Given the description of an element on the screen output the (x, y) to click on. 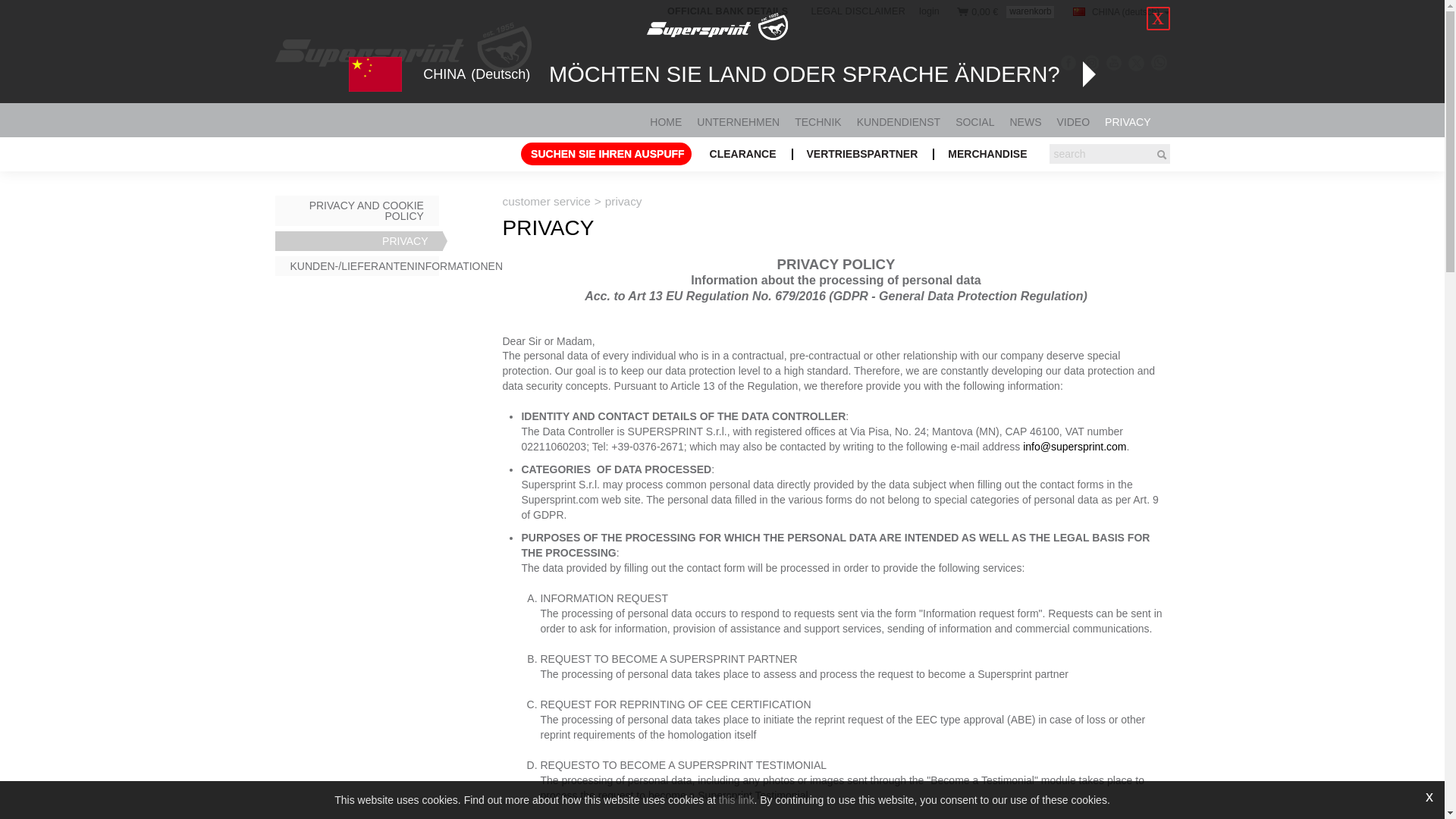
login (927, 11)
Warenkorb (962, 11)
LEGAL DISCLAIMER (857, 11)
Supersprint.com (412, 46)
OFFICIAL BANK DETAILS (734, 11)
UNTERNEHMEN (738, 121)
warenkorb (1030, 11)
KUNDENDIENST (898, 121)
HOME (665, 121)
TECHNIK (817, 121)
